Given the description of an element on the screen output the (x, y) to click on. 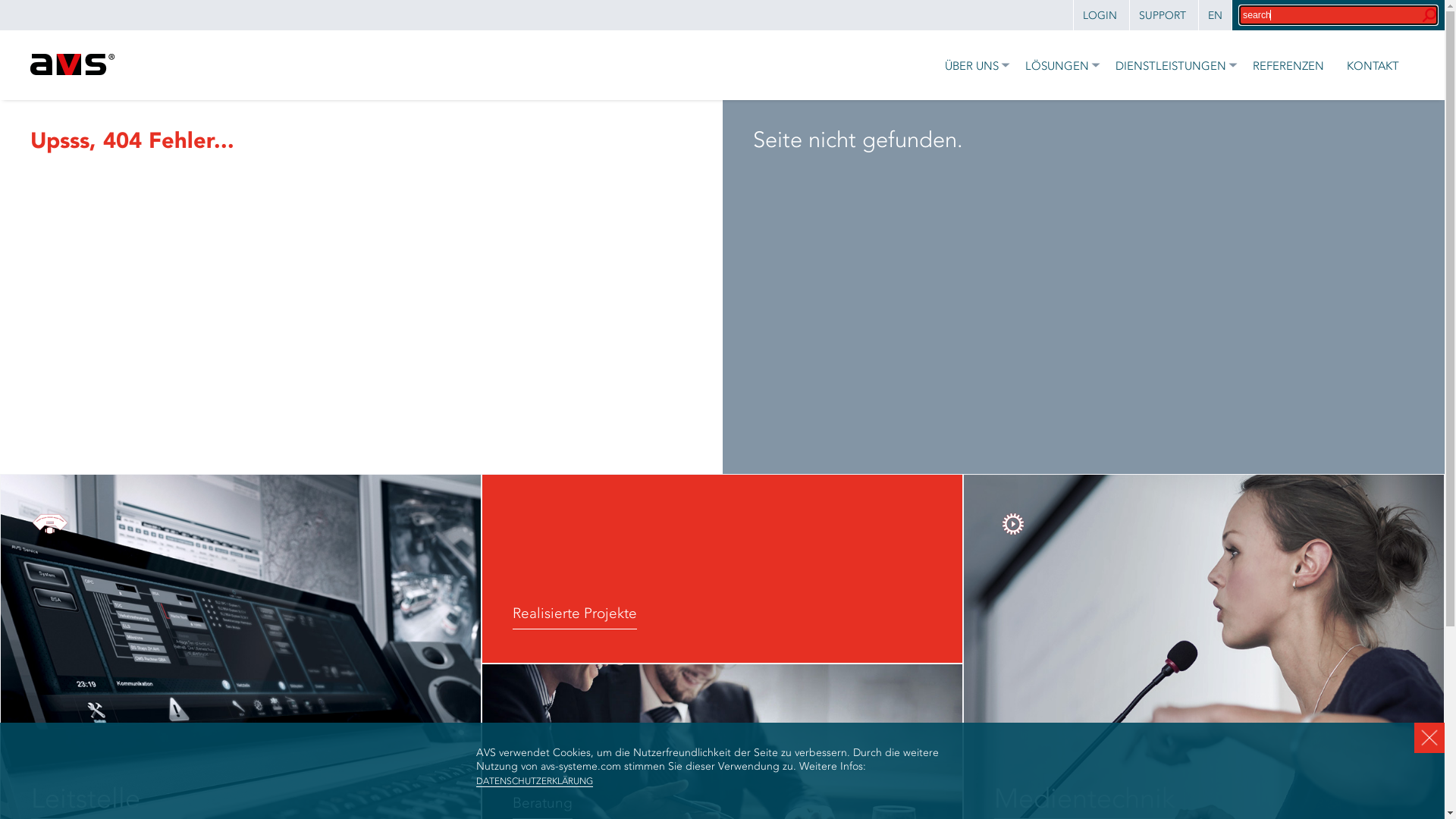
EN Element type: text (1214, 15)
KONTAKT Element type: text (1368, 64)
DIENSTLEISTUNGEN Element type: text (1168, 64)
SUPPORT Element type: text (1162, 15)
LOGIN Element type: text (1099, 15)
Realisierte Projekte Element type: text (721, 568)
REFERENZEN Element type: text (1284, 64)
